Given the description of an element on the screen output the (x, y) to click on. 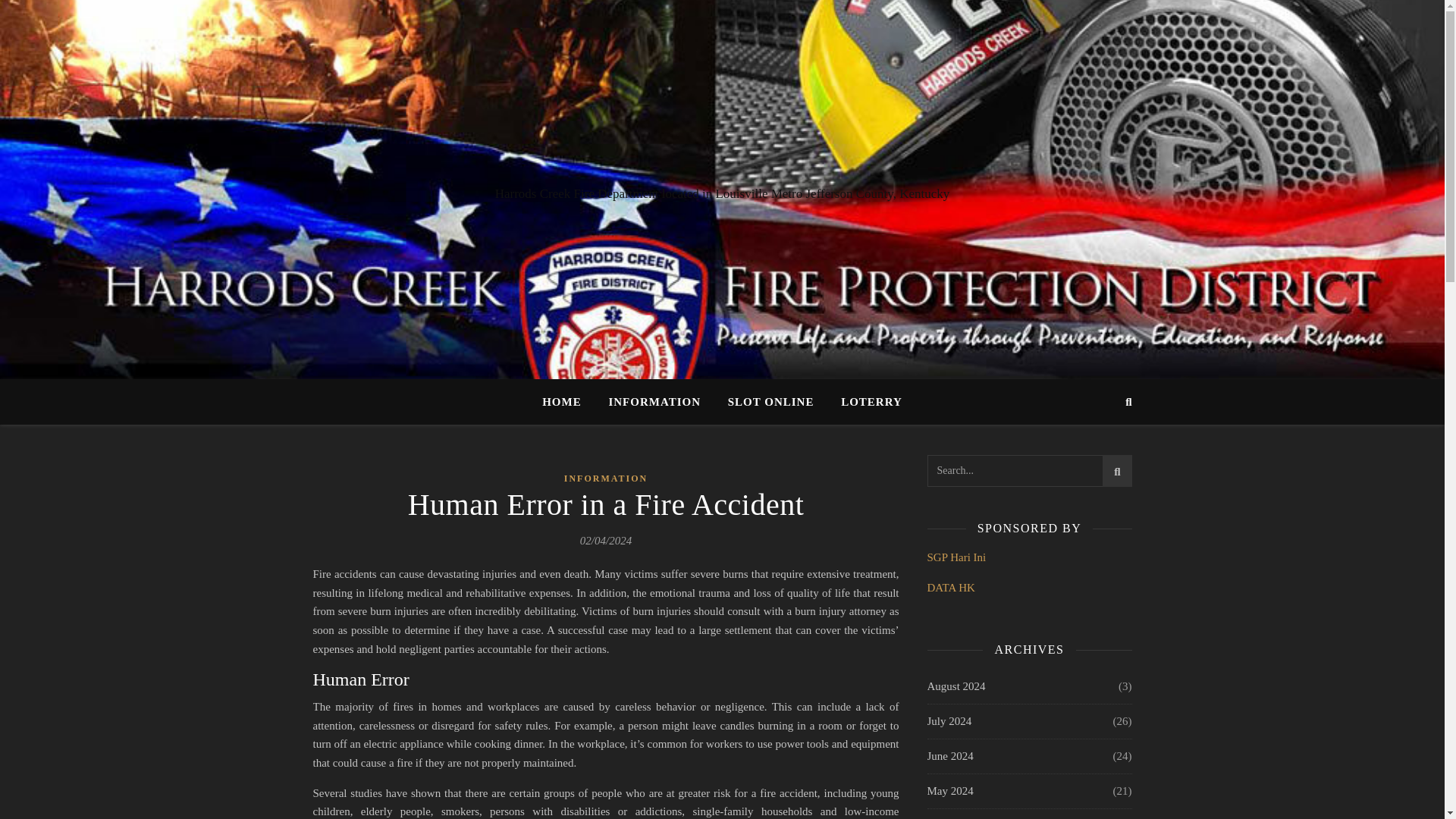
May 2024 (949, 790)
LOTERRY (865, 402)
June 2024 (949, 756)
SGP Hari Ini (955, 557)
April 2024 (950, 814)
INFORMATION (654, 402)
DATA HK (950, 587)
SLOT ONLINE (771, 402)
HOME (567, 402)
INFORMATION (605, 478)
August 2024 (955, 686)
July 2024 (948, 721)
